Given the description of an element on the screen output the (x, y) to click on. 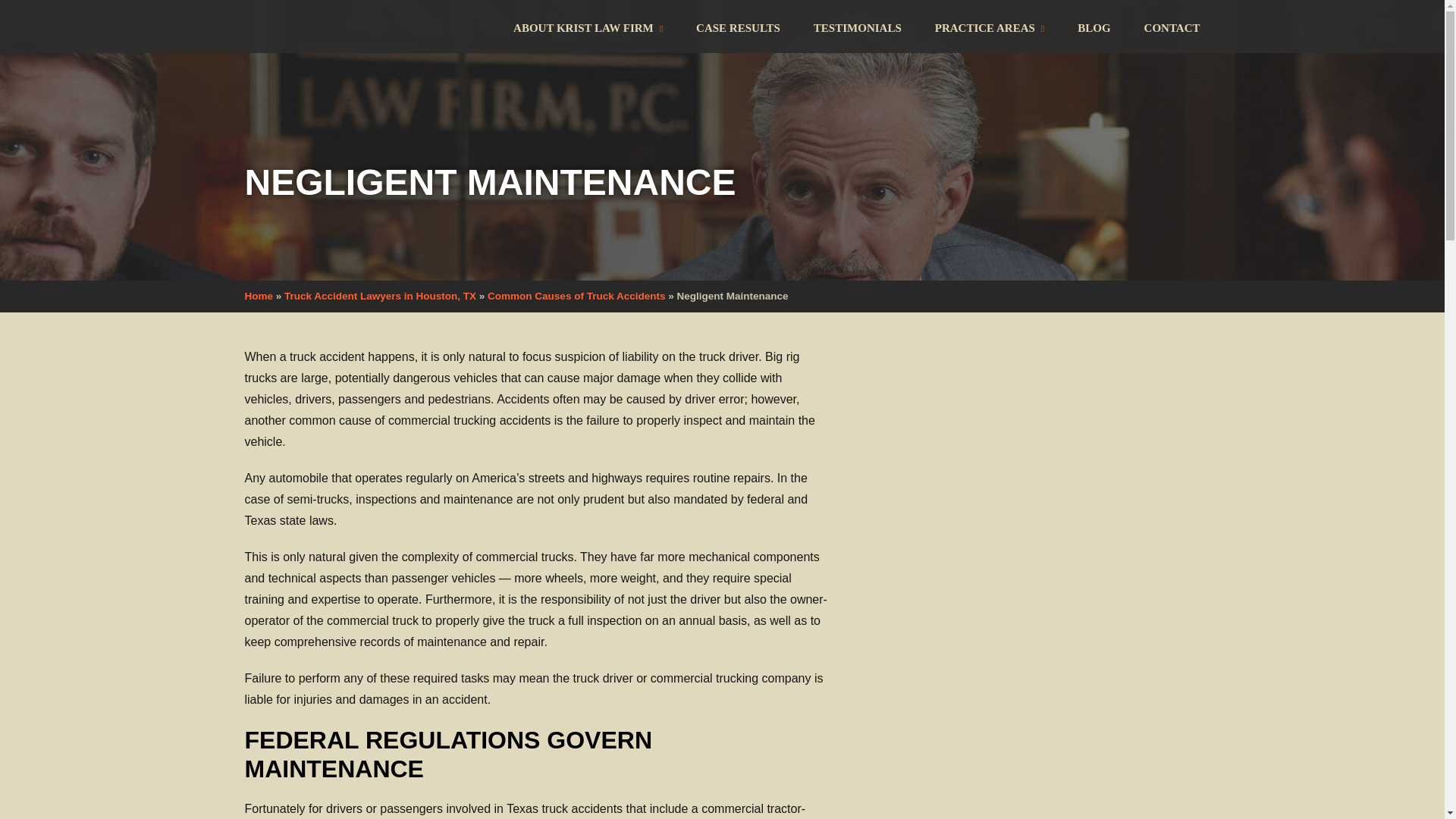
CASE RESULTS (737, 26)
TESTIMONIALS (857, 26)
PRACTICE AREAS (989, 26)
BLOG (1093, 26)
CONTACT (1162, 26)
ABOUT KRIST LAW FIRM (587, 26)
